Given the description of an element on the screen output the (x, y) to click on. 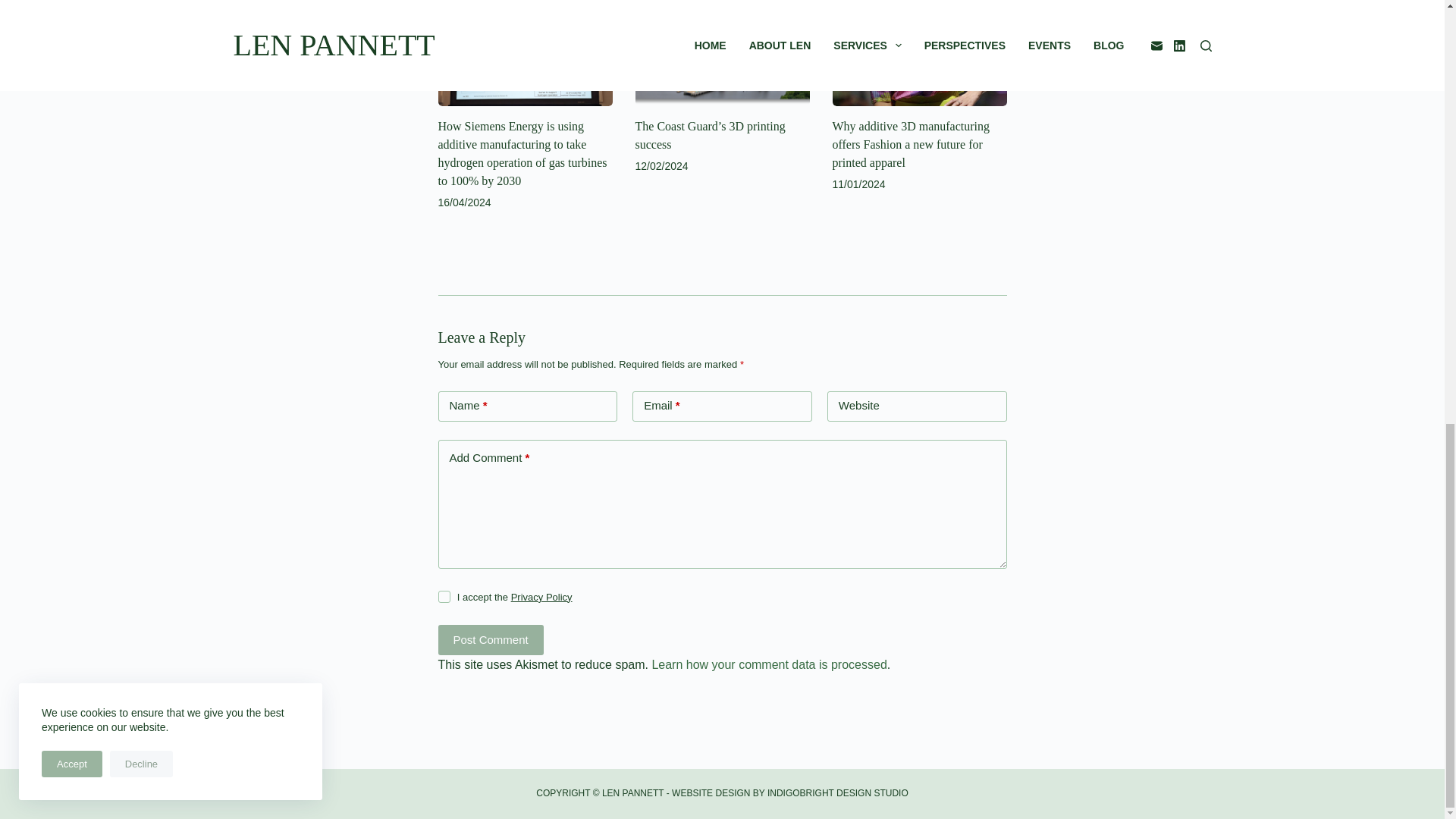
on (443, 596)
